Given the description of an element on the screen output the (x, y) to click on. 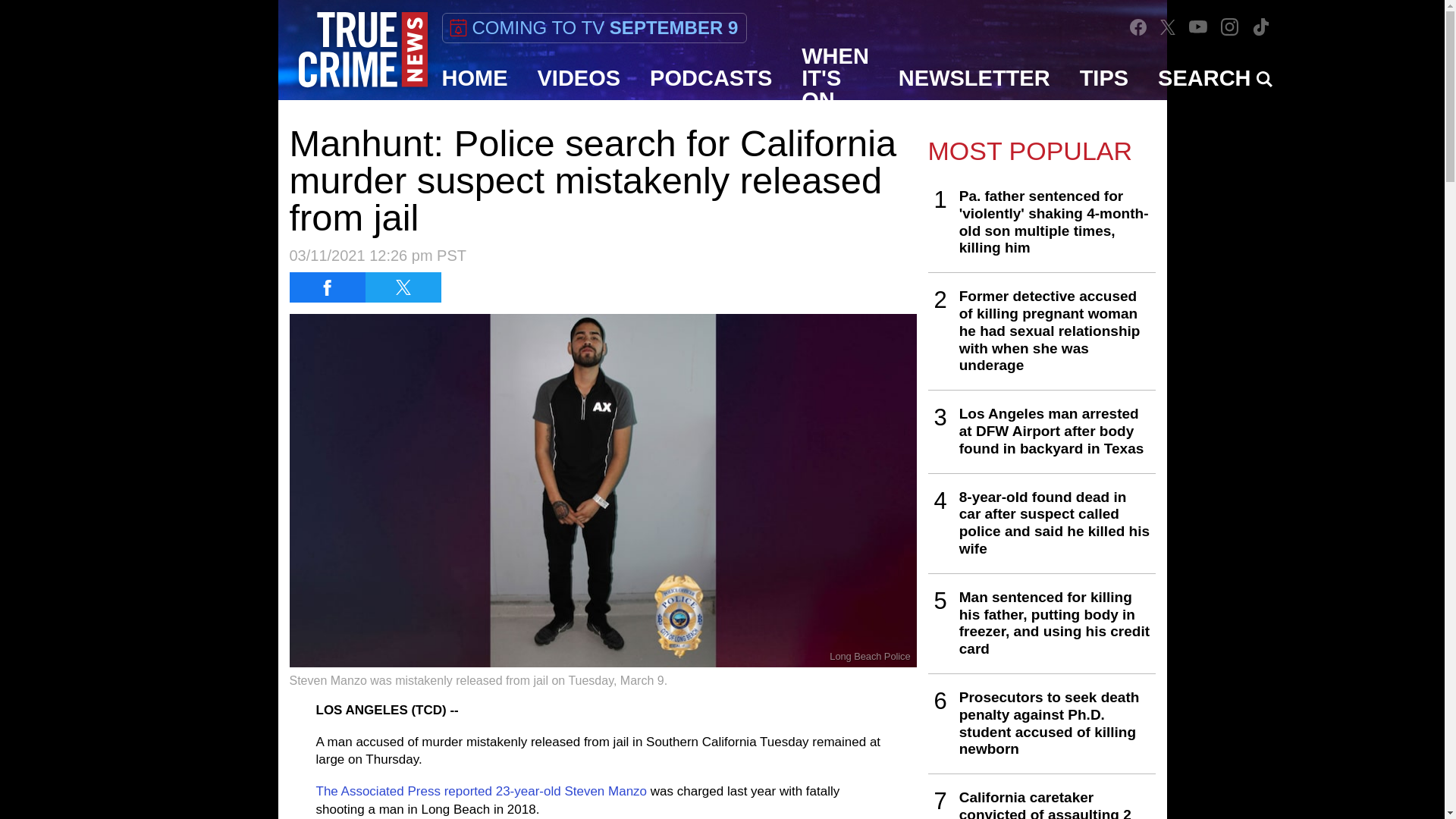
VIDEOS (579, 77)
YouTube (1198, 26)
NEWSLETTER (974, 77)
COMING TO TV SEPTEMBER 9 (593, 28)
Instagram (1229, 26)
WHEN IT'S ON (835, 77)
Twitter (1167, 27)
True Crime News (363, 49)
Facebook (1137, 27)
Instagram (1230, 27)
